Given the description of an element on the screen output the (x, y) to click on. 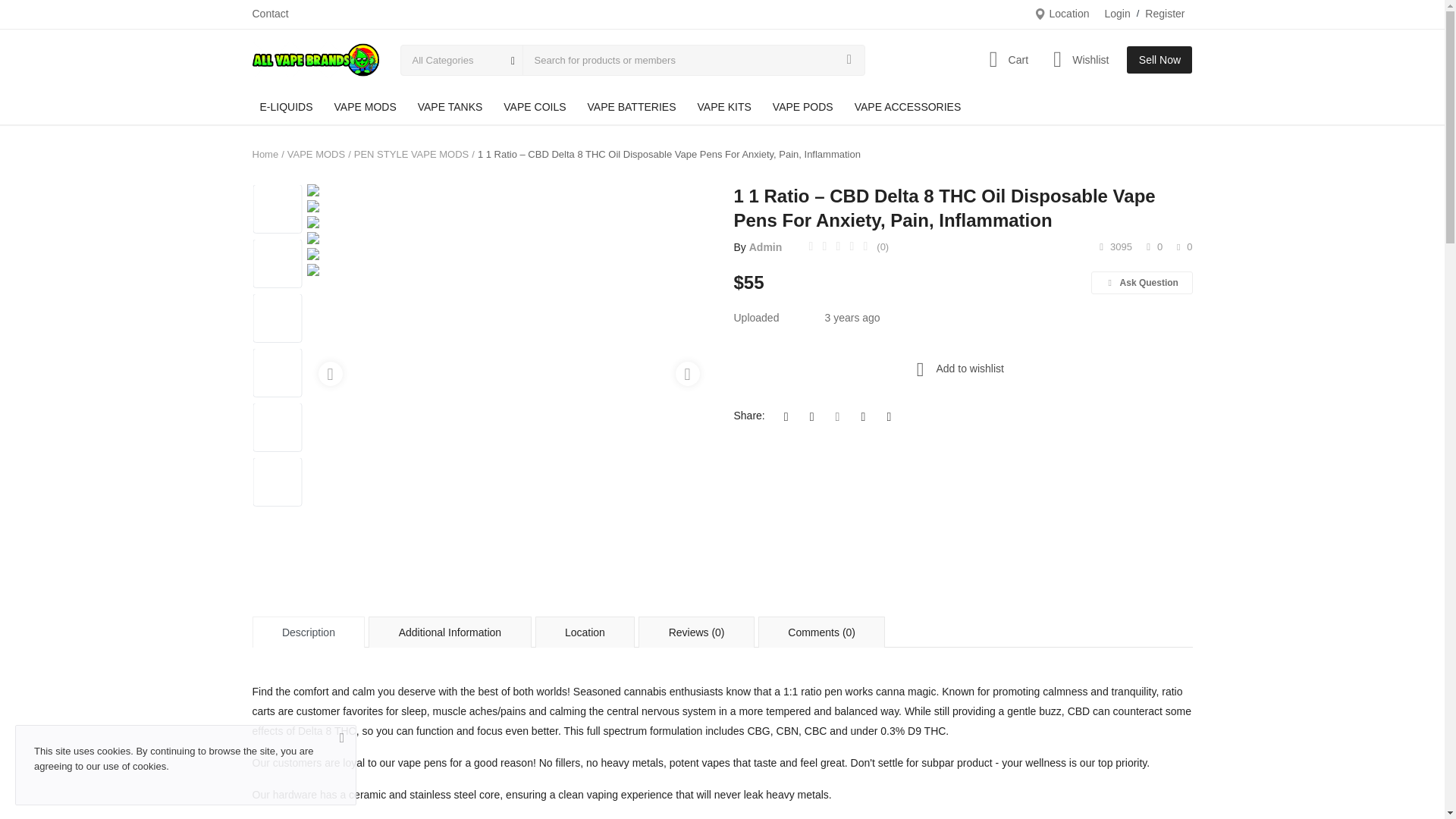
Register (1164, 13)
All Categories (460, 60)
E-LIQUIDS (285, 107)
VAPE MODS (365, 107)
Login (1116, 13)
Contact (269, 13)
Location (1061, 13)
VAPE TANKS (450, 107)
Cart (1004, 59)
Sell Now (1159, 59)
